Given the description of an element on the screen output the (x, y) to click on. 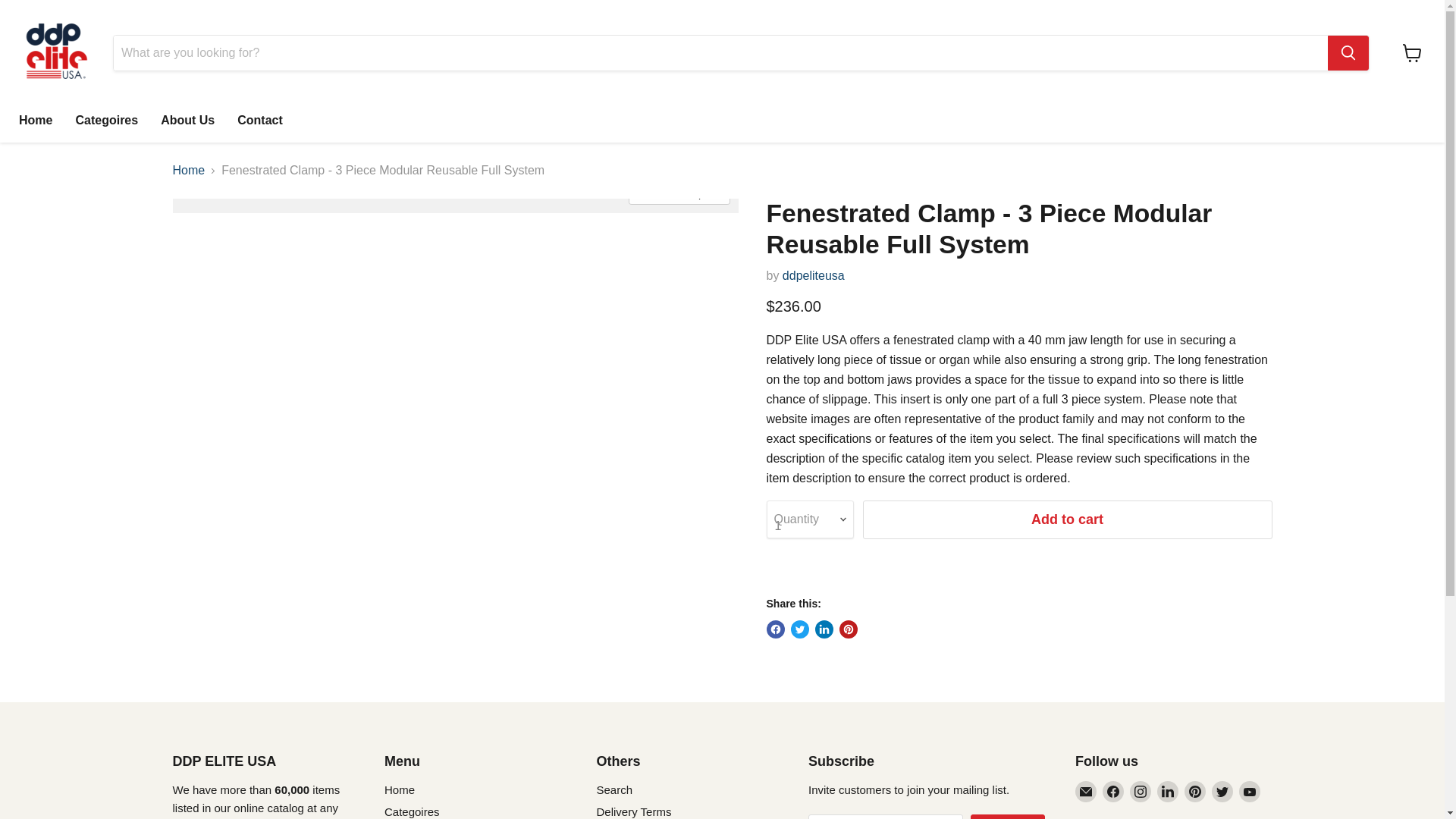
Categoires (411, 811)
Tweet on Twitter (799, 628)
Click to expand (679, 192)
YouTube (1249, 791)
Search (613, 789)
Home (189, 170)
Email (1085, 791)
Facebook (1113, 791)
View cart (1411, 52)
Contact (259, 120)
